Given the description of an element on the screen output the (x, y) to click on. 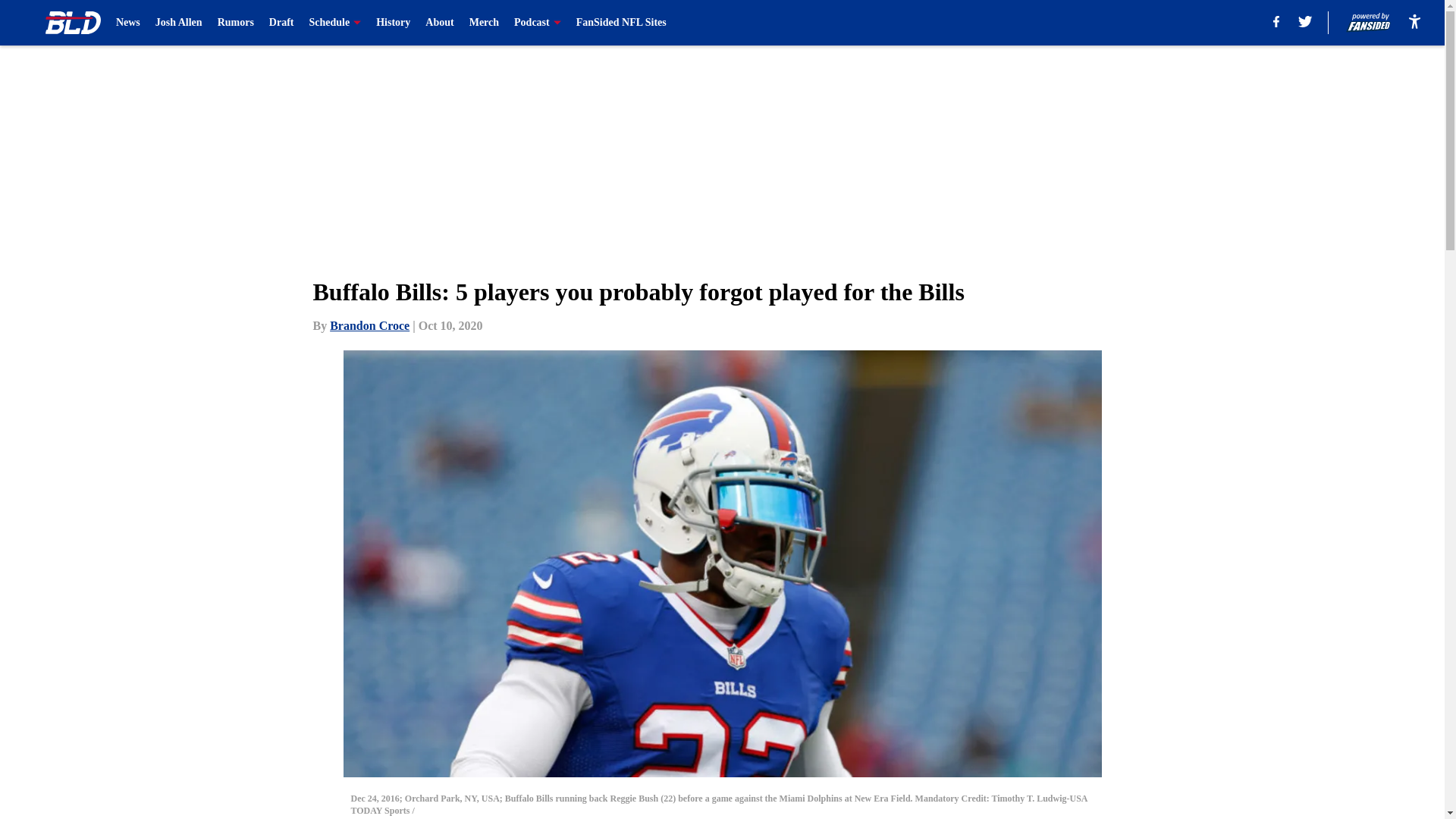
Brandon Croce (369, 325)
News (127, 22)
History (392, 22)
FanSided NFL Sites (621, 22)
Josh Allen (178, 22)
About (438, 22)
Draft (281, 22)
Rumors (234, 22)
Merch (483, 22)
